Given the description of an element on the screen output the (x, y) to click on. 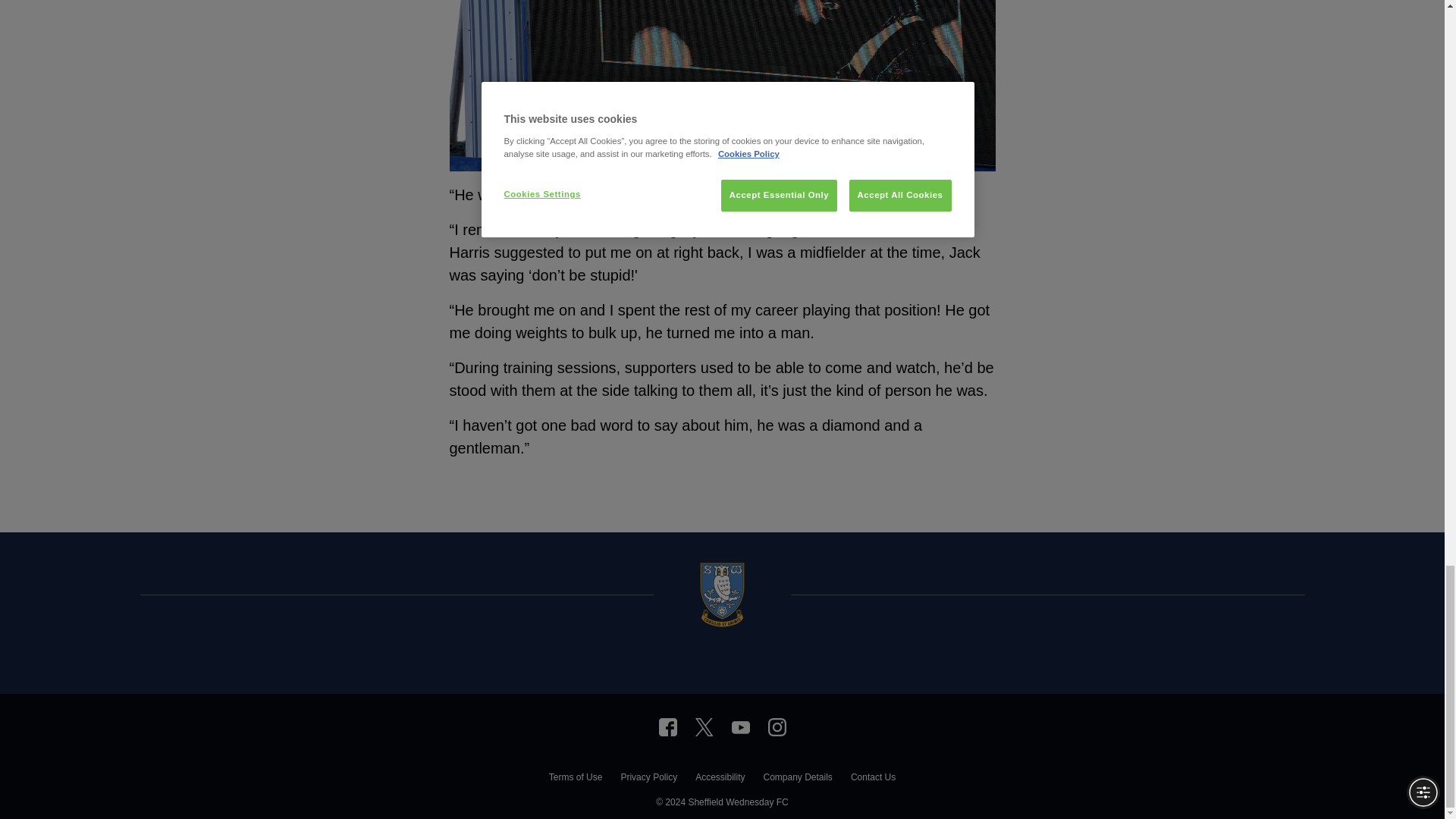
Privacy Policy (648, 778)
Privacy Policy (648, 778)
Company Details (796, 778)
Contact Us (872, 778)
Contact Us (872, 778)
sheffieldwednesday (667, 726)
Accessibility (719, 778)
Company Details (796, 778)
Accessibility (719, 778)
Terms of Use (575, 778)
Terms of Use (575, 778)
